Given the description of an element on the screen output the (x, y) to click on. 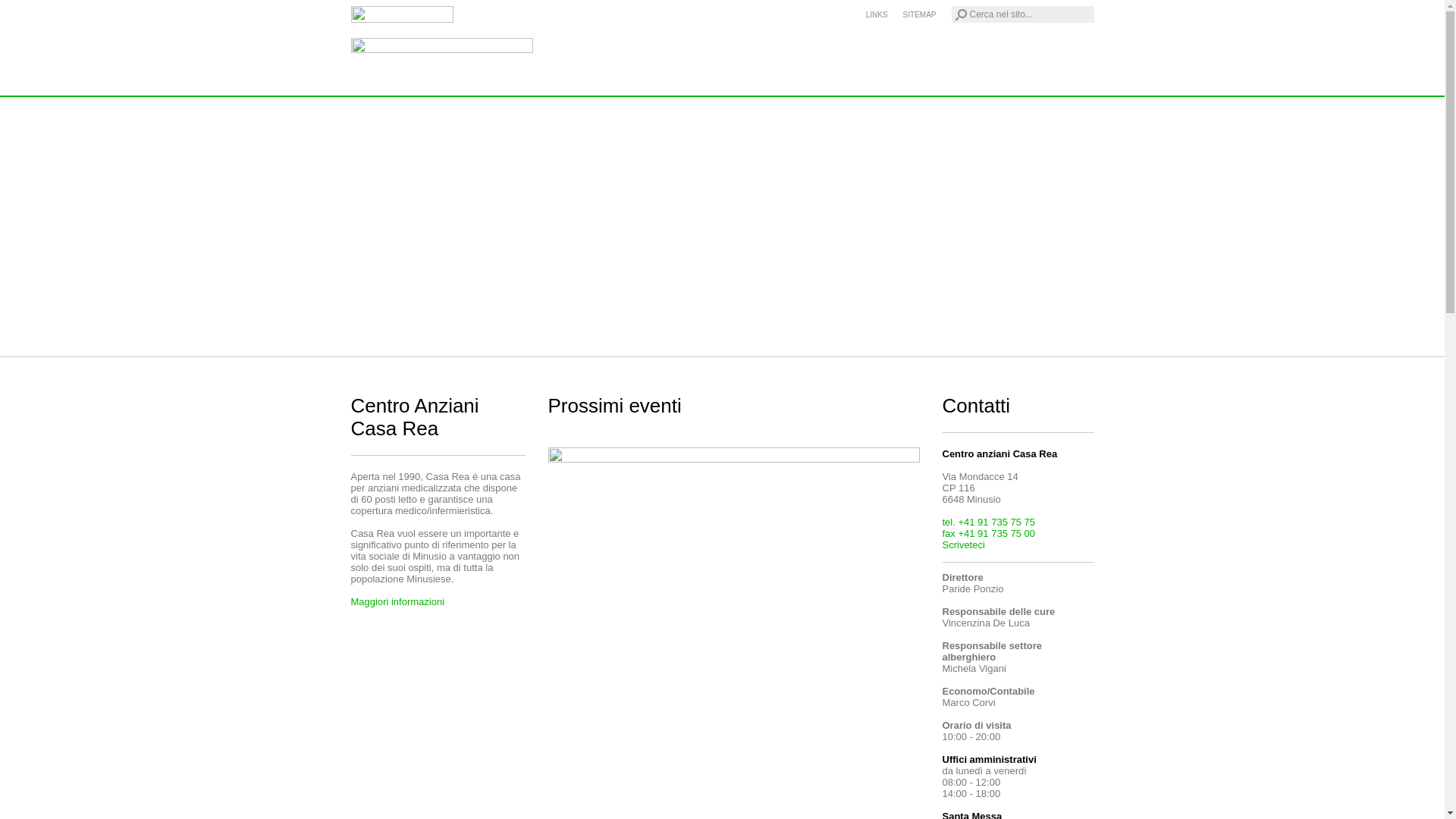
1 Element type: text (360, 341)
ISTITUTO Element type: text (639, 83)
3 Element type: text (402, 341)
INFORMAZIONI Element type: text (837, 83)
SITEMAP Element type: text (919, 14)
4 Element type: text (423, 341)
CONCORSI Element type: text (929, 83)
tel. +41 91 735 75 75 Element type: text (988, 521)
2 Element type: text (381, 341)
Scriveteci Element type: text (962, 544)
SERVIZI E CURE Element type: text (729, 83)
LINKS Element type: text (877, 14)
fax +41 91 735 75 00 Element type: text (988, 533)
Maggiori informazioni Element type: text (397, 601)
